Given the description of an element on the screen output the (x, y) to click on. 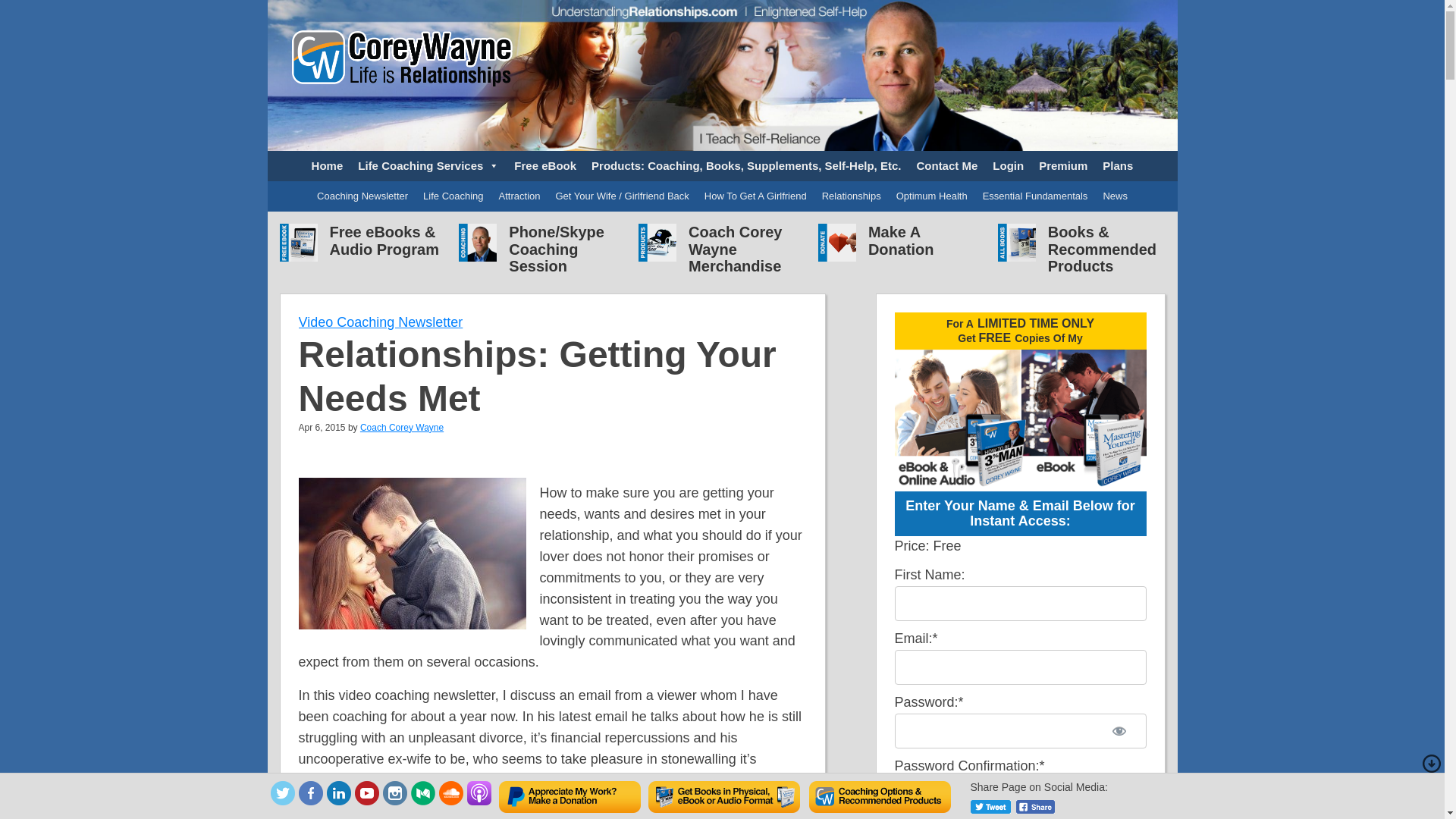
Home (327, 165)
Login (1007, 165)
News (1114, 195)
Life Coaching Services (428, 165)
How To Get A Girlfriend (755, 195)
Coach Corey Wayne Merchandise (734, 248)
Attraction (520, 195)
Contact Me (946, 165)
Products: Coaching, Books, Supplements, Self-Help, Etc. (745, 165)
Optimum Health (931, 195)
Make A Donation (900, 240)
Life Coaching (453, 195)
Plans (1117, 165)
Premium (1062, 165)
Essential Fundamentals (1035, 195)
